Given the description of an element on the screen output the (x, y) to click on. 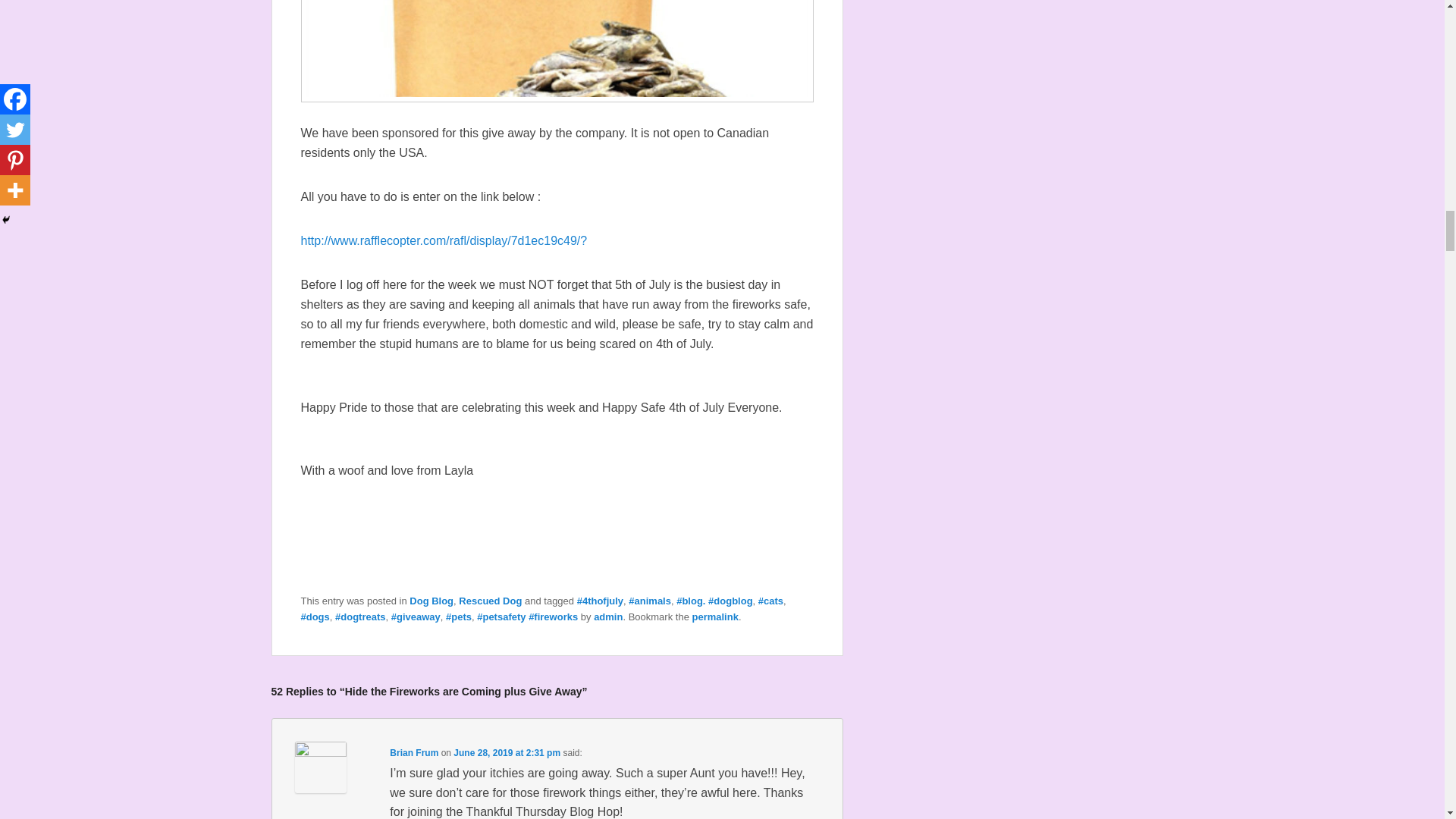
June 28, 2019 at 2:31 pm (506, 752)
Rescued Dog (489, 600)
admin (608, 616)
Brian Frum (414, 752)
Permalink to Hide the Fireworks are Coming plus Give Away (714, 616)
Dog Blog (430, 600)
permalink (714, 616)
